Given the description of an element on the screen output the (x, y) to click on. 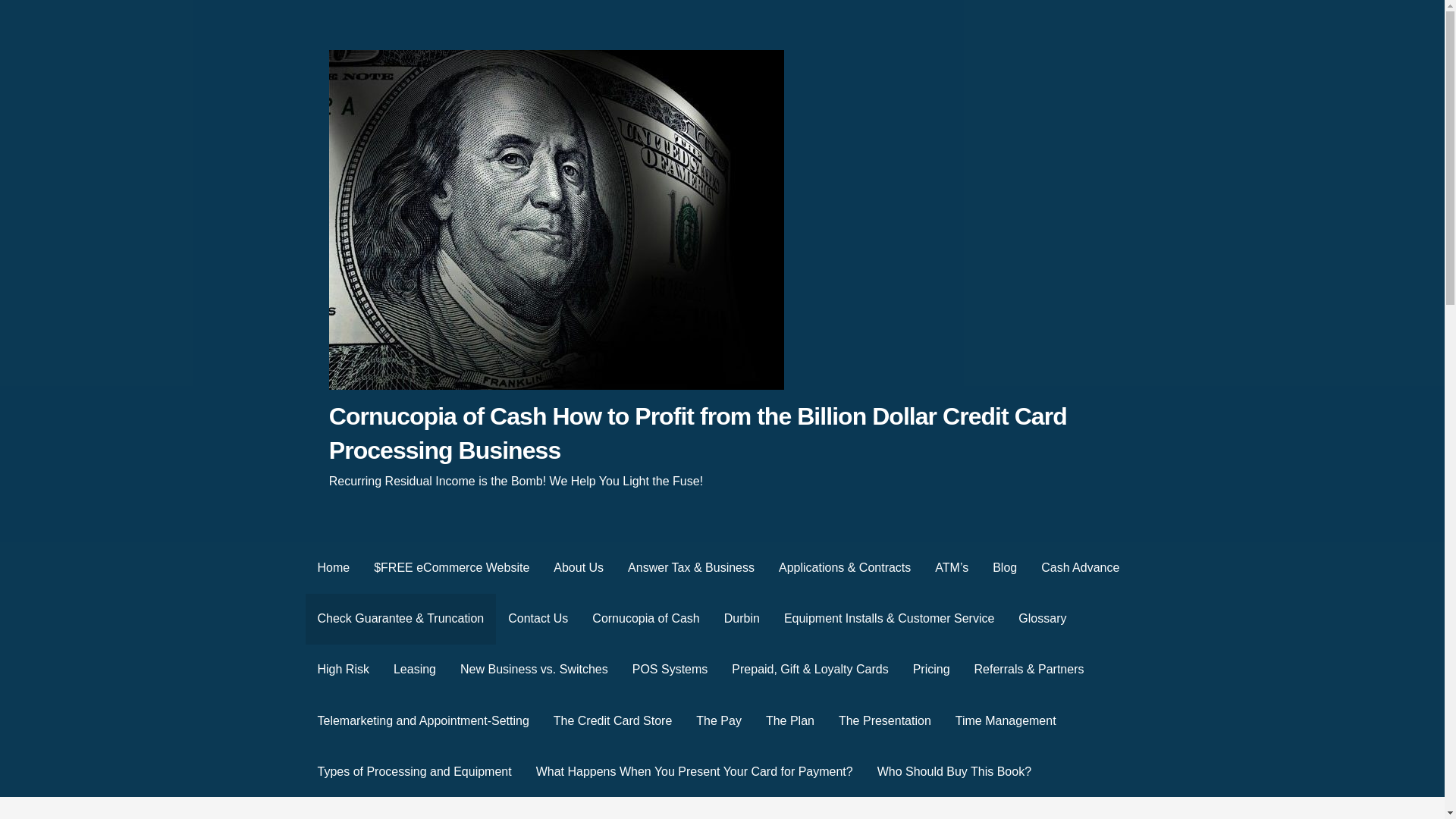
Leasing (414, 669)
Who Should Buy This Book? (953, 771)
Telemarketing and Appointment-Setting (422, 720)
POS Systems (670, 669)
Search (31, 15)
The Presentation (885, 720)
Contact Us (537, 618)
Blog (1004, 567)
The Credit Card Store (612, 720)
Durbin (741, 618)
Advertisement (721, 811)
Cornucopia of Cash (645, 618)
The Plan (790, 720)
What Happens When You Present Your Card for Payment? (694, 771)
